Given the description of an element on the screen output the (x, y) to click on. 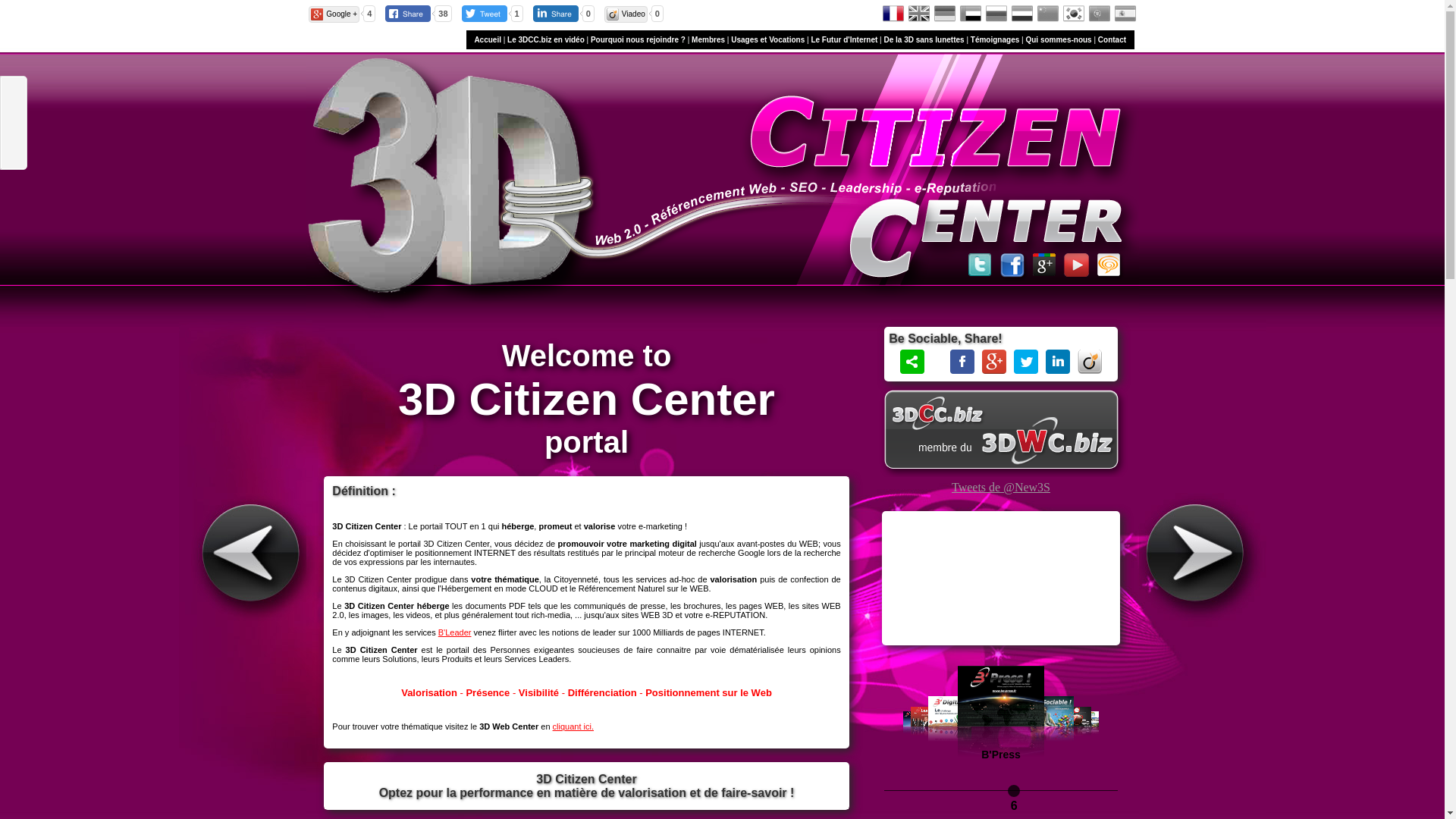
Pourquoi nous rejoindre ? Element type: text (637, 39)
Tweets de @New3S Element type: text (1000, 486)
cliquant ici. Element type: text (572, 726)
Le Futur d'Internet Element type: text (843, 39)
B'Leader Element type: text (454, 632)
De la 3D sans lunettes Element type: text (924, 39)
Suivant Element type: hover (1202, 553)
Membres Element type: text (707, 39)
Contact Element type: text (1112, 39)
Usages et Vocations Element type: text (767, 39)
Qui sommes-nous Element type: text (1058, 39)
Accueil Element type: text (487, 39)
